Given the description of an element on the screen output the (x, y) to click on. 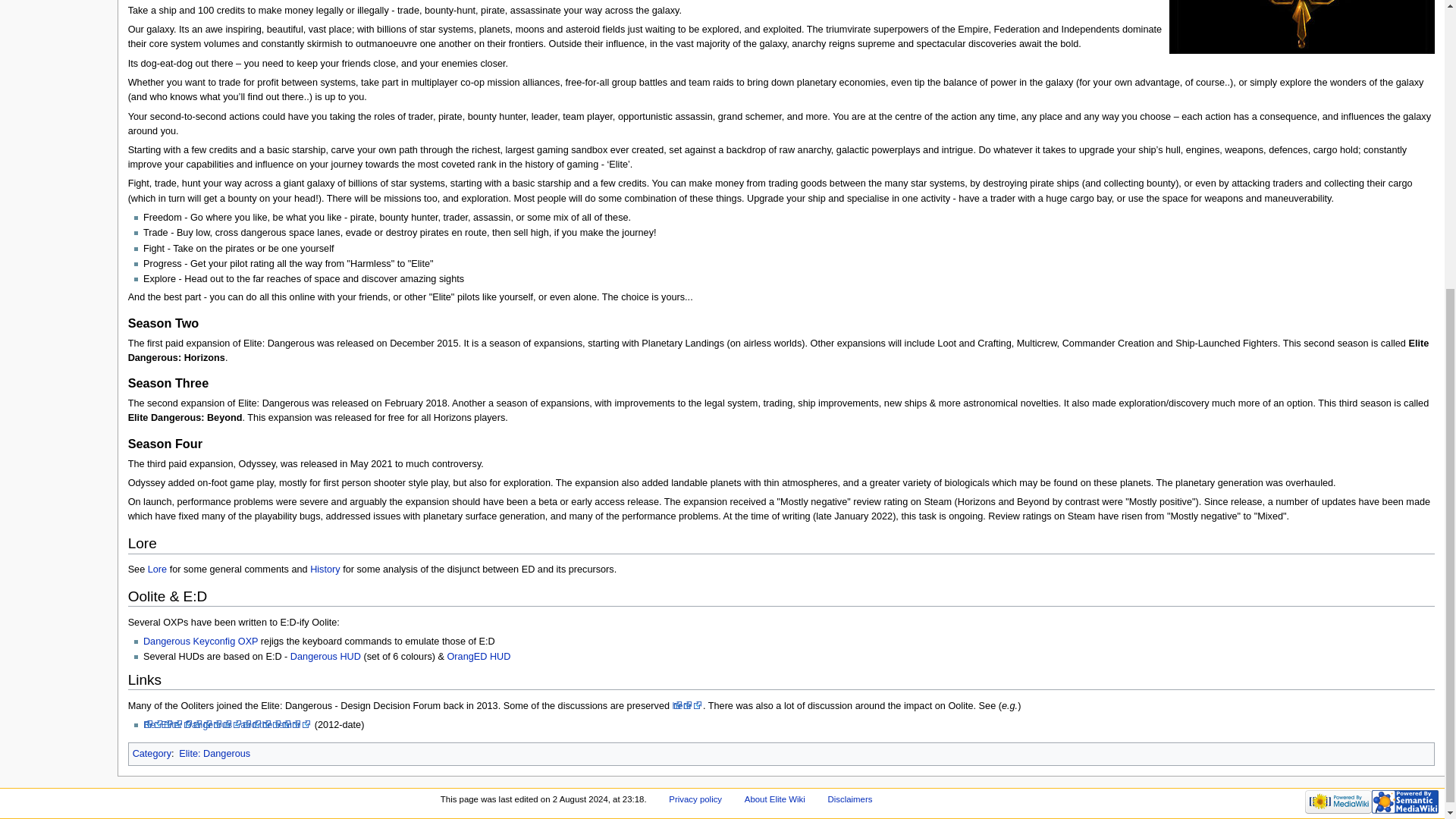
here (687, 706)
OrangED HUD (478, 656)
Lore (157, 569)
Special:Categories (151, 753)
Lore (157, 569)
Elite: Dangerous (214, 753)
OrangED HUD (478, 656)
Dangerous HUD (325, 656)
Dangerous HUD (325, 656)
Category (151, 753)
History (324, 569)
Re: Elite: Dangerous - and the return (226, 724)
Dangerous Keyconfig OXP (199, 641)
Category:Elite: Dangerous (214, 753)
History (324, 569)
